Given the description of an element on the screen output the (x, y) to click on. 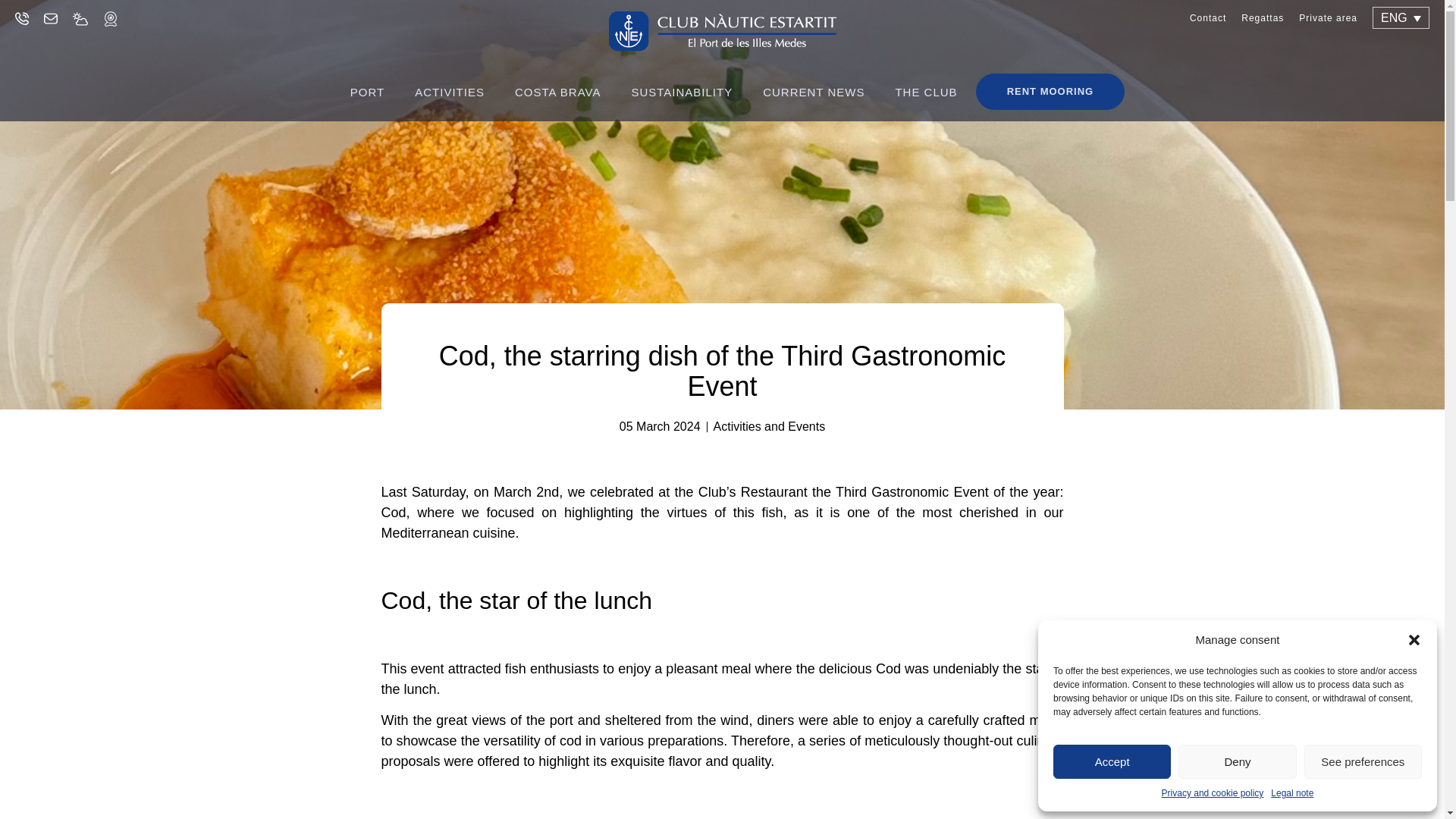
Private area (1327, 18)
See preferences (1363, 761)
ACTIVITIES (448, 92)
Legal note (1292, 793)
PORT (366, 92)
SUSTAINABILITY (681, 92)
THE CLUB (925, 92)
COSTA BRAVA (557, 92)
ENG (1401, 17)
Regattas (1262, 18)
